Given the description of an element on the screen output the (x, y) to click on. 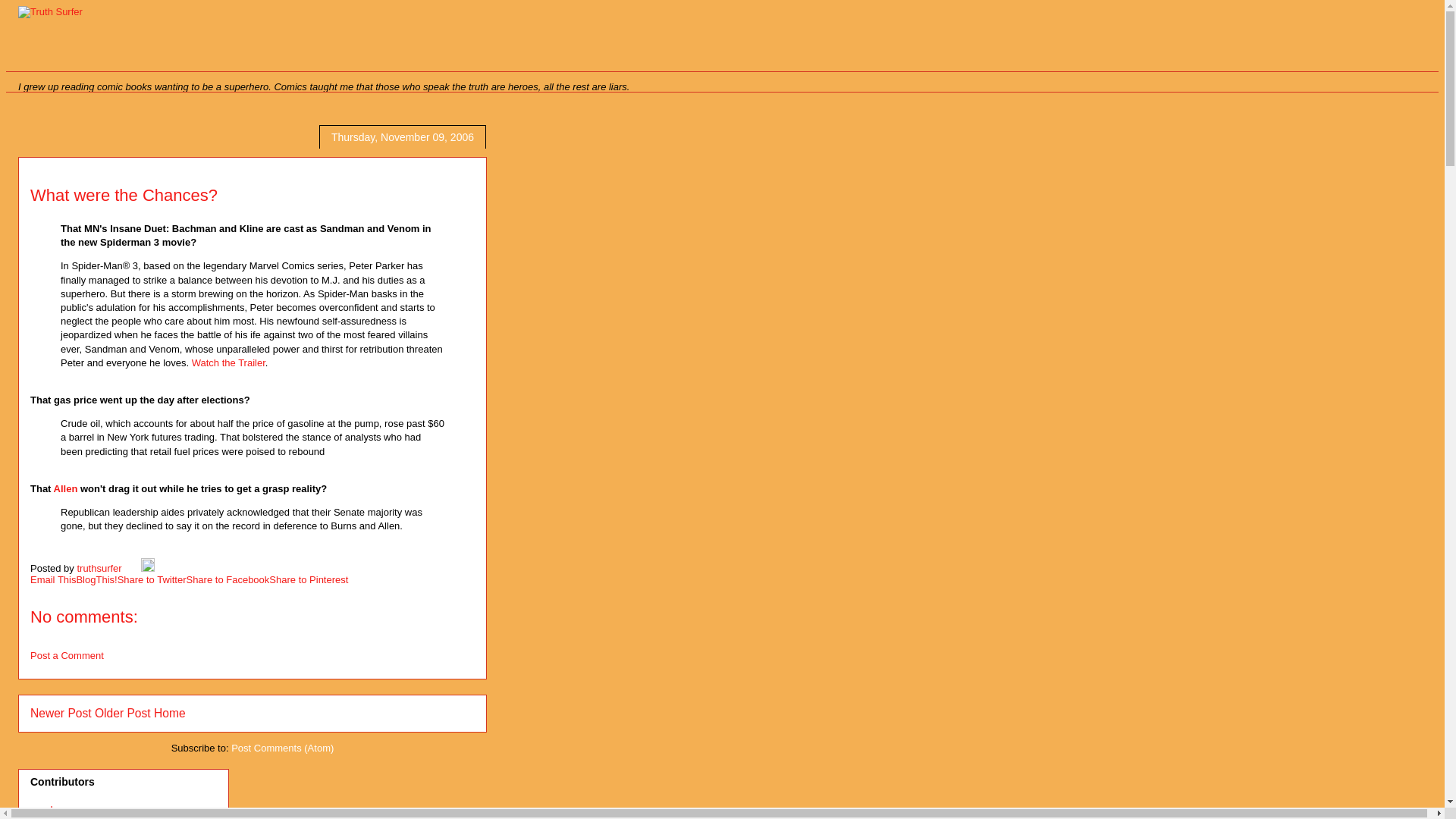
Email Post (132, 568)
author profile (100, 568)
Older Post (122, 712)
Newer Post (60, 712)
Watch the Trailer (228, 362)
Share to Twitter (151, 579)
Home (170, 712)
truthsurfer (100, 568)
Email This (52, 579)
Share to Pinterest (308, 579)
Share to Twitter (151, 579)
mnsky (45, 810)
Older Post (122, 712)
Email This (52, 579)
Share to Pinterest (308, 579)
